Given the description of an element on the screen output the (x, y) to click on. 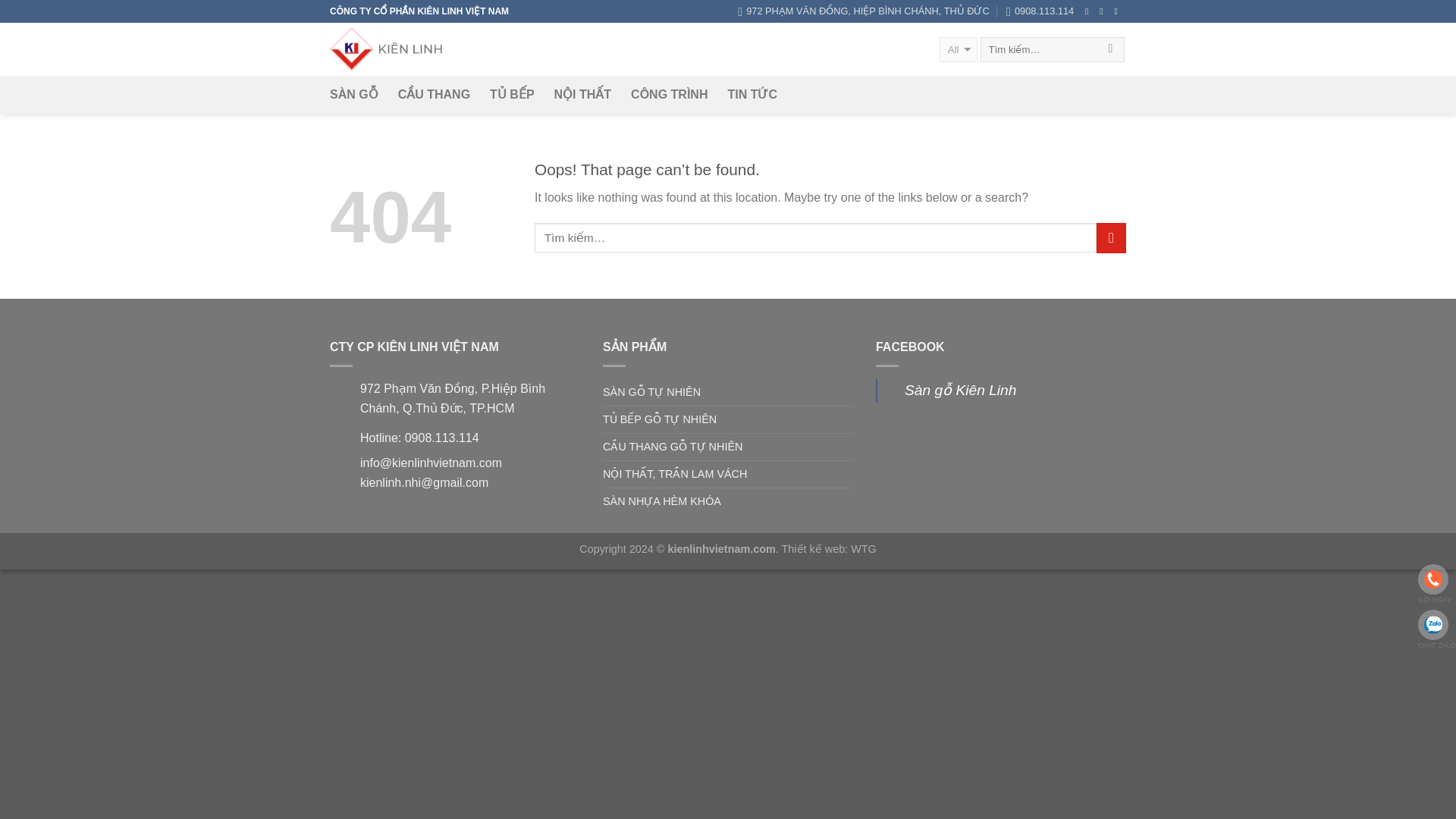
0908.113.114 (1040, 11)
0908.113.114 (1040, 11)
WTG (863, 548)
